Given the description of an element on the screen output the (x, y) to click on. 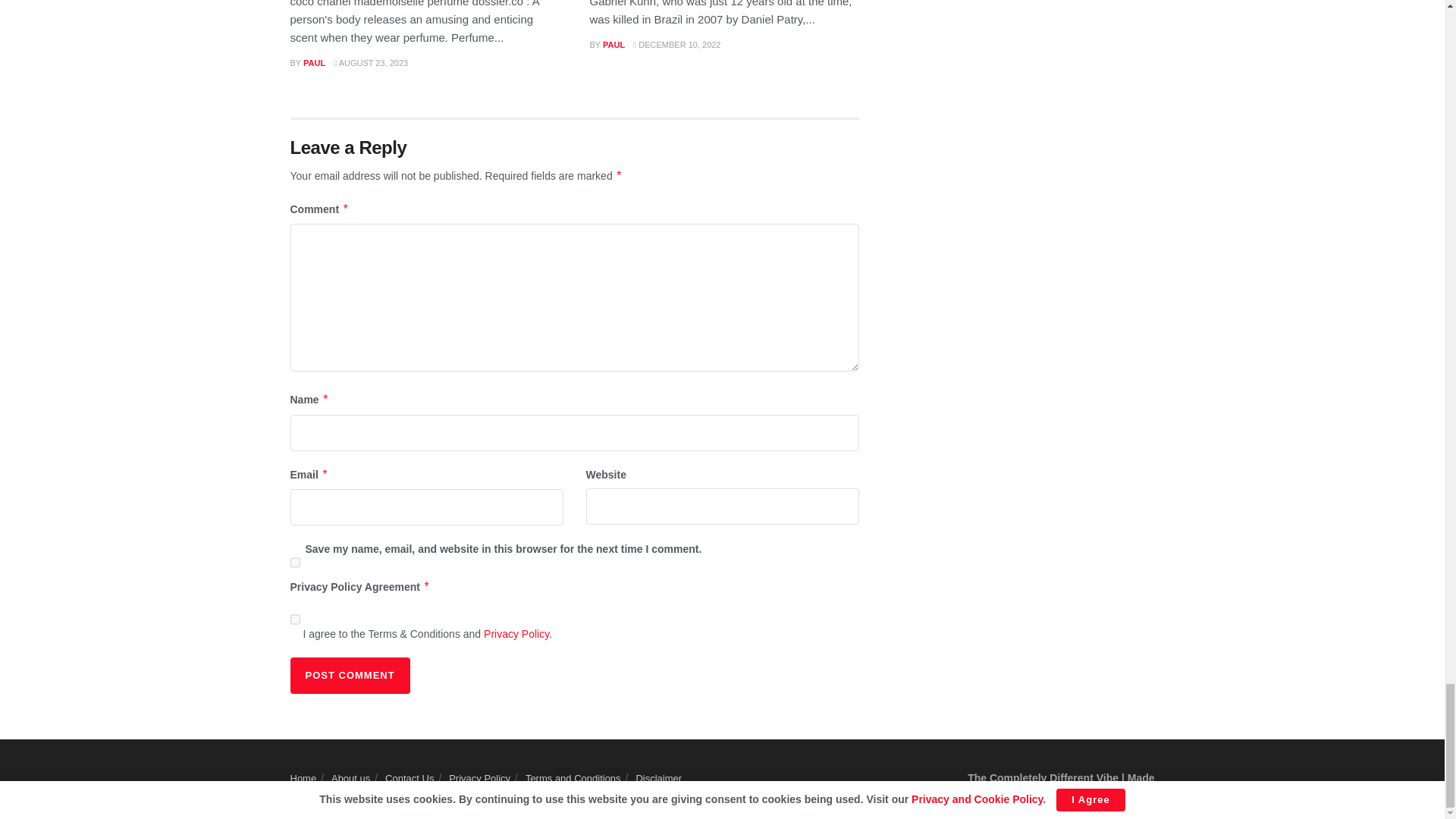
yes (294, 562)
on (294, 619)
Post Comment (349, 675)
